Given the description of an element on the screen output the (x, y) to click on. 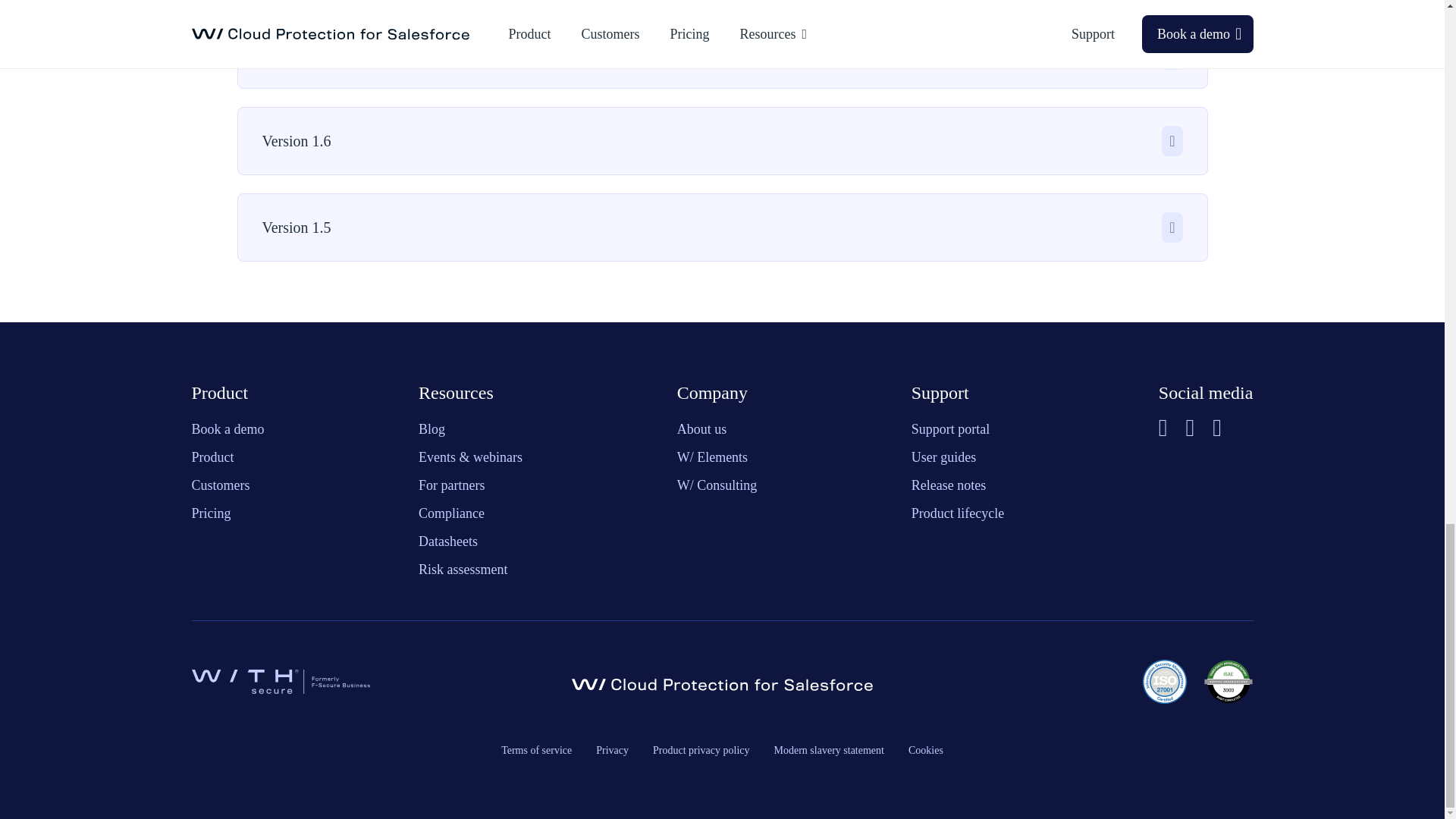
Compliance (451, 513)
Support portal (950, 428)
About us (701, 428)
Product (211, 457)
Datasheets (448, 540)
Privacy (611, 749)
Pricing (210, 513)
Release notes (948, 485)
Terms of service (536, 749)
Book a demo (226, 428)
